Given the description of an element on the screen output the (x, y) to click on. 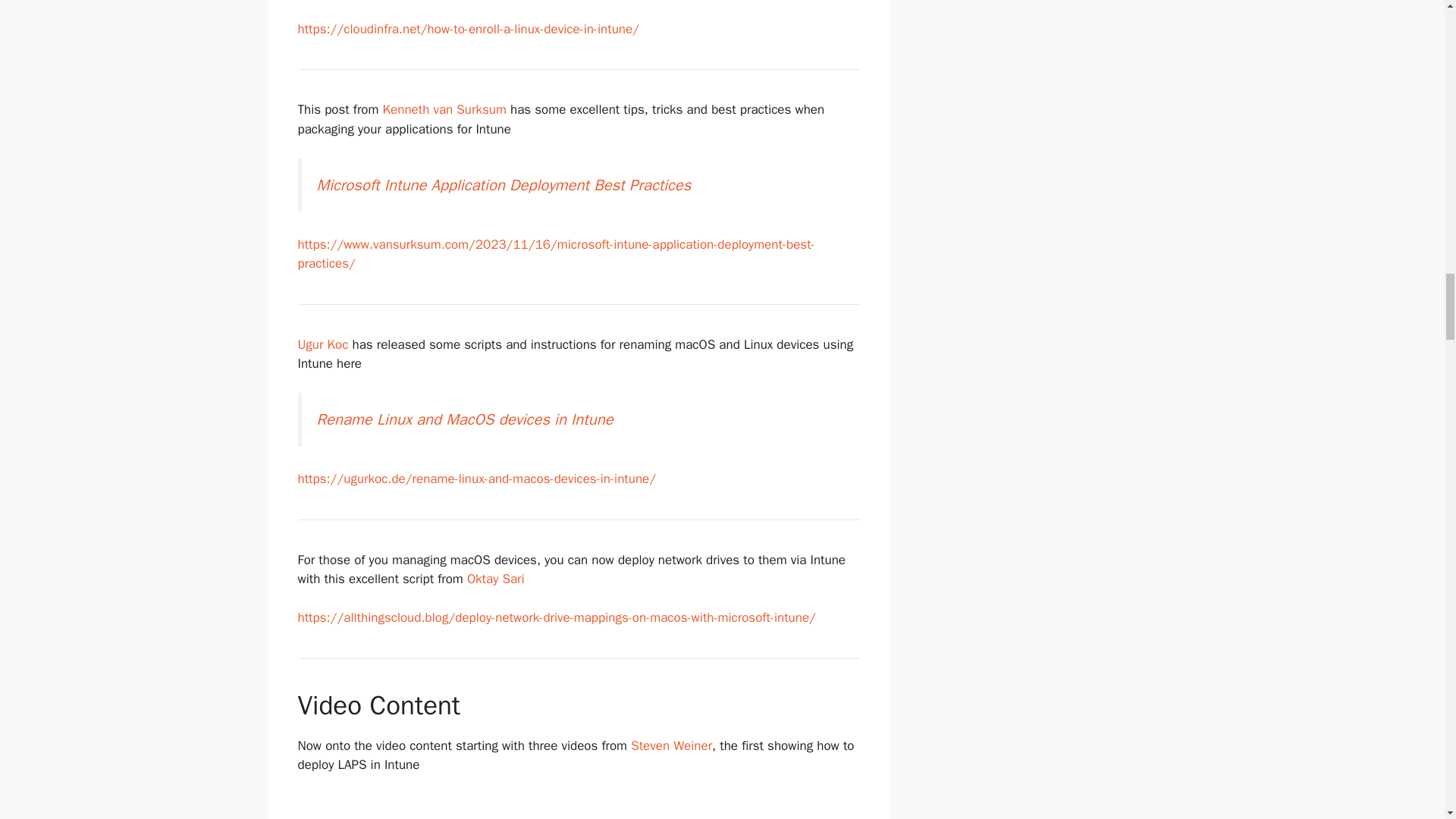
How to Setup Windows LAPS, Fast! (578, 806)
